Given the description of an element on the screen output the (x, y) to click on. 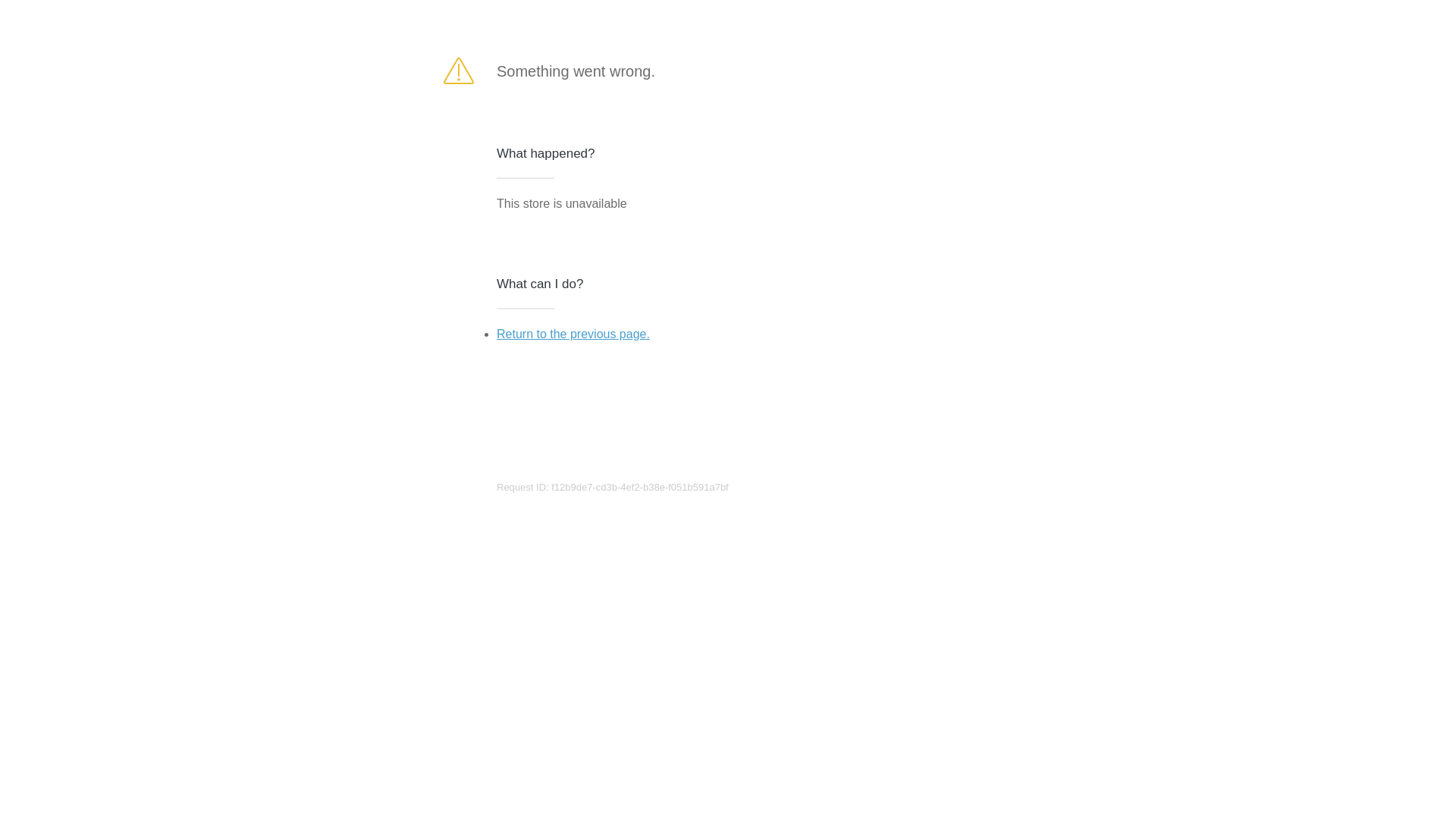
Return to the previous page. Element type: text (572, 333)
